Given the description of an element on the screen output the (x, y) to click on. 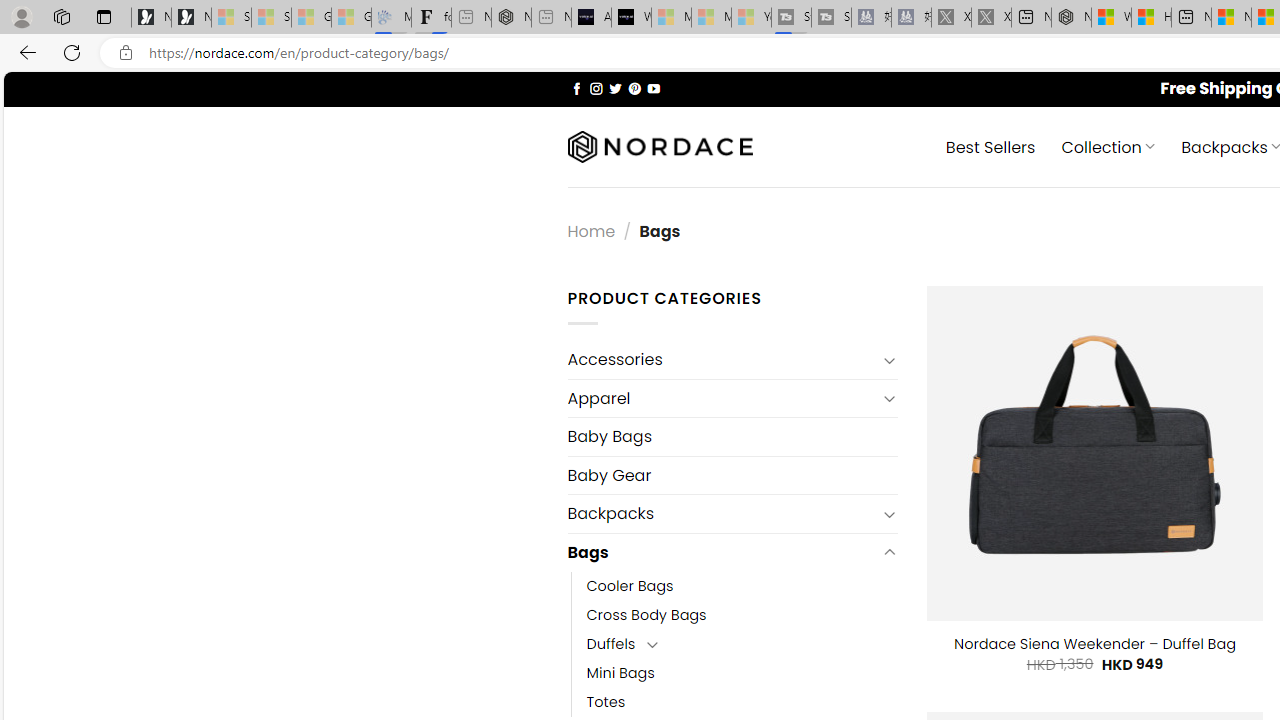
Apparel (721, 398)
Microsoft Start Sports - Sleeping (671, 17)
Totes (605, 701)
Bags (721, 552)
AI Voice Changer for PC and Mac - Voice.ai (591, 17)
Microsoft Start - Sleeping (711, 17)
Follow on YouTube (653, 88)
  Best Sellers (989, 146)
